Given the description of an element on the screen output the (x, y) to click on. 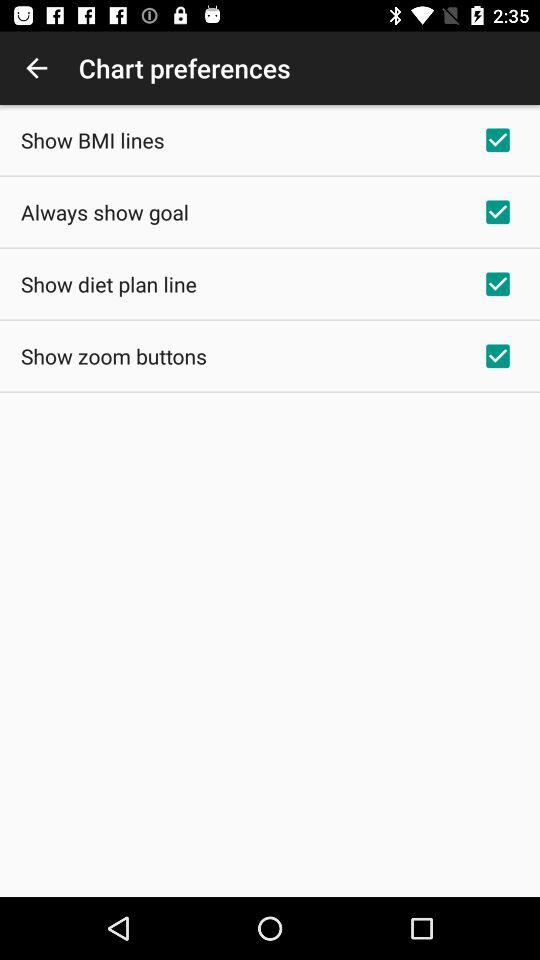
scroll to the show zoom buttons app (113, 355)
